Given the description of an element on the screen output the (x, y) to click on. 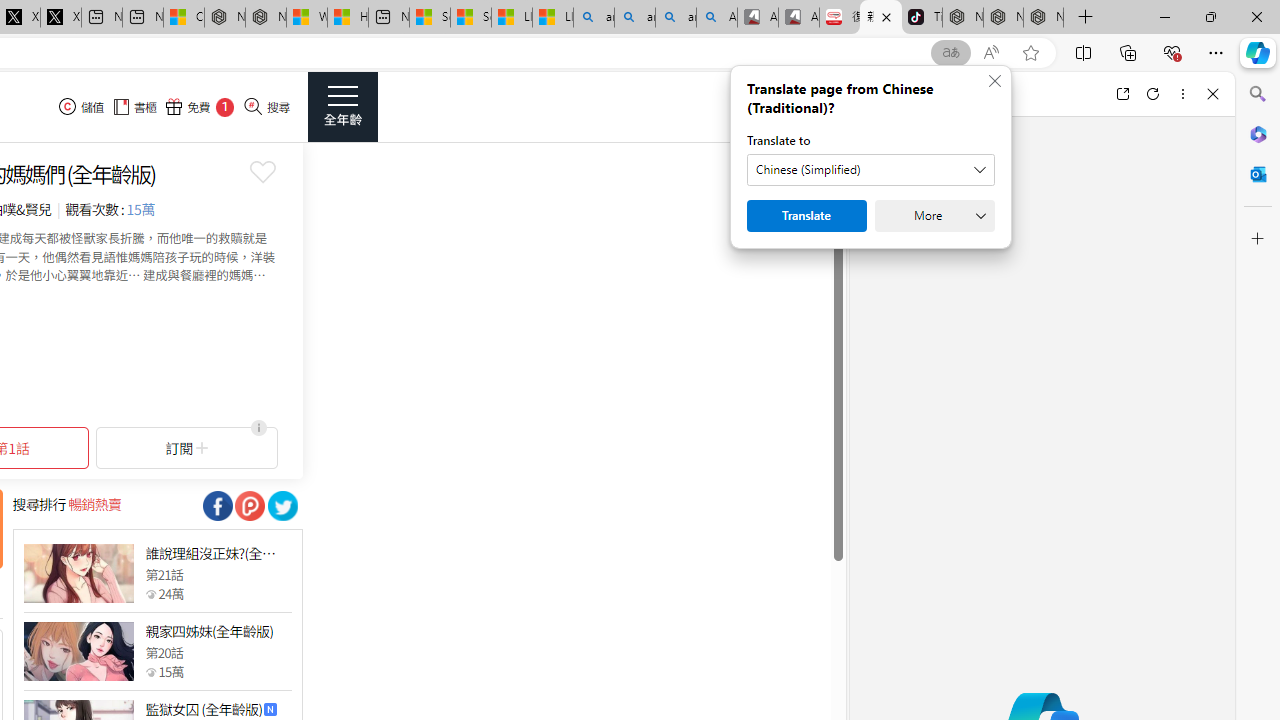
Amazon Echo Robot - Search Images (717, 17)
Huge shark washes ashore at New York City beach | Watch (347, 17)
Translate (806, 215)
Customize (1258, 239)
Microsoft 365 (1258, 133)
Compose (971, 93)
Translate to (870, 169)
Class: socialShare (282, 506)
